Given the description of an element on the screen output the (x, y) to click on. 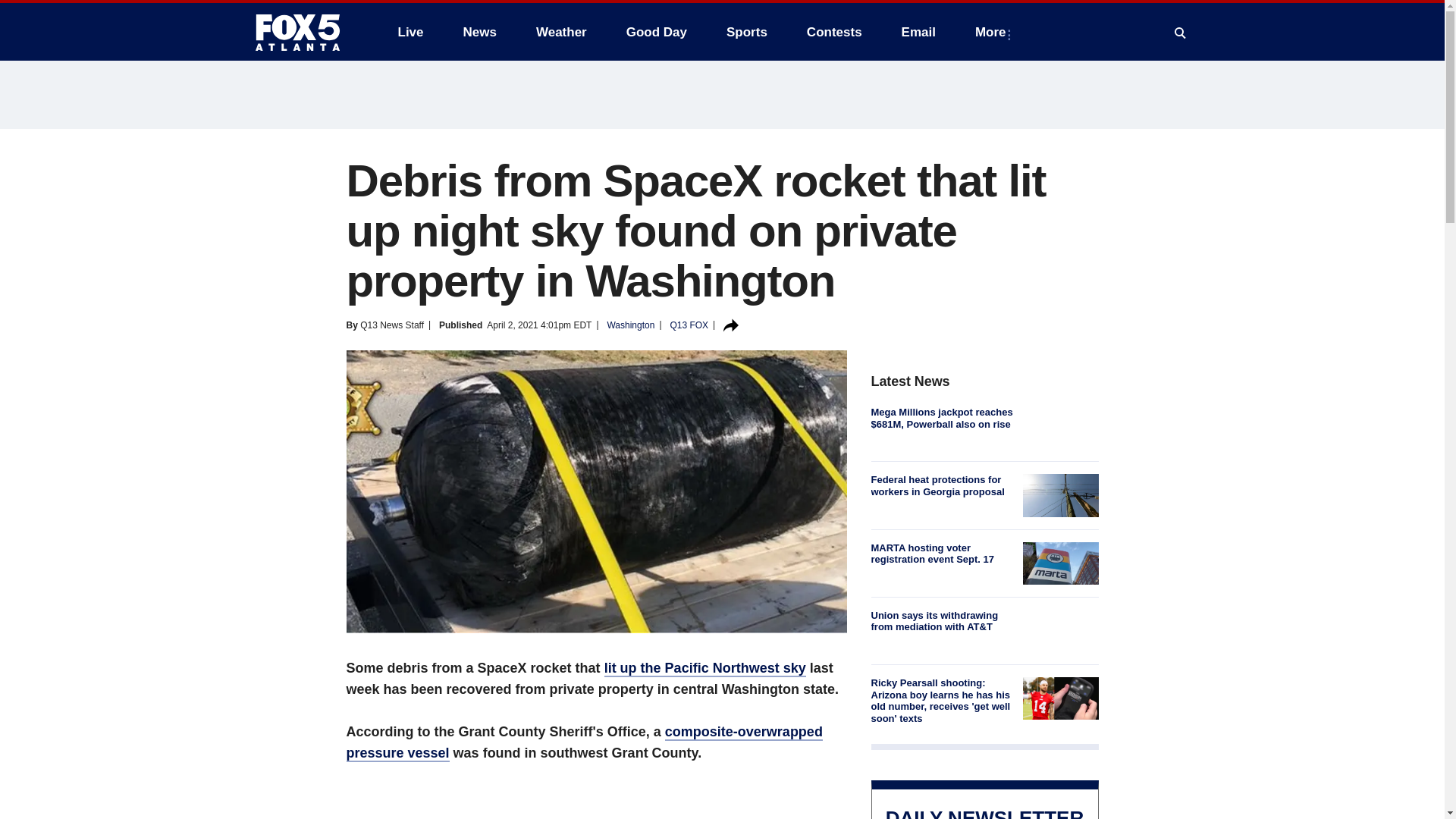
News (479, 32)
Good Day (656, 32)
Sports (746, 32)
Live (410, 32)
Contests (834, 32)
Email (918, 32)
Weather (561, 32)
More (993, 32)
